Given the description of an element on the screen output the (x, y) to click on. 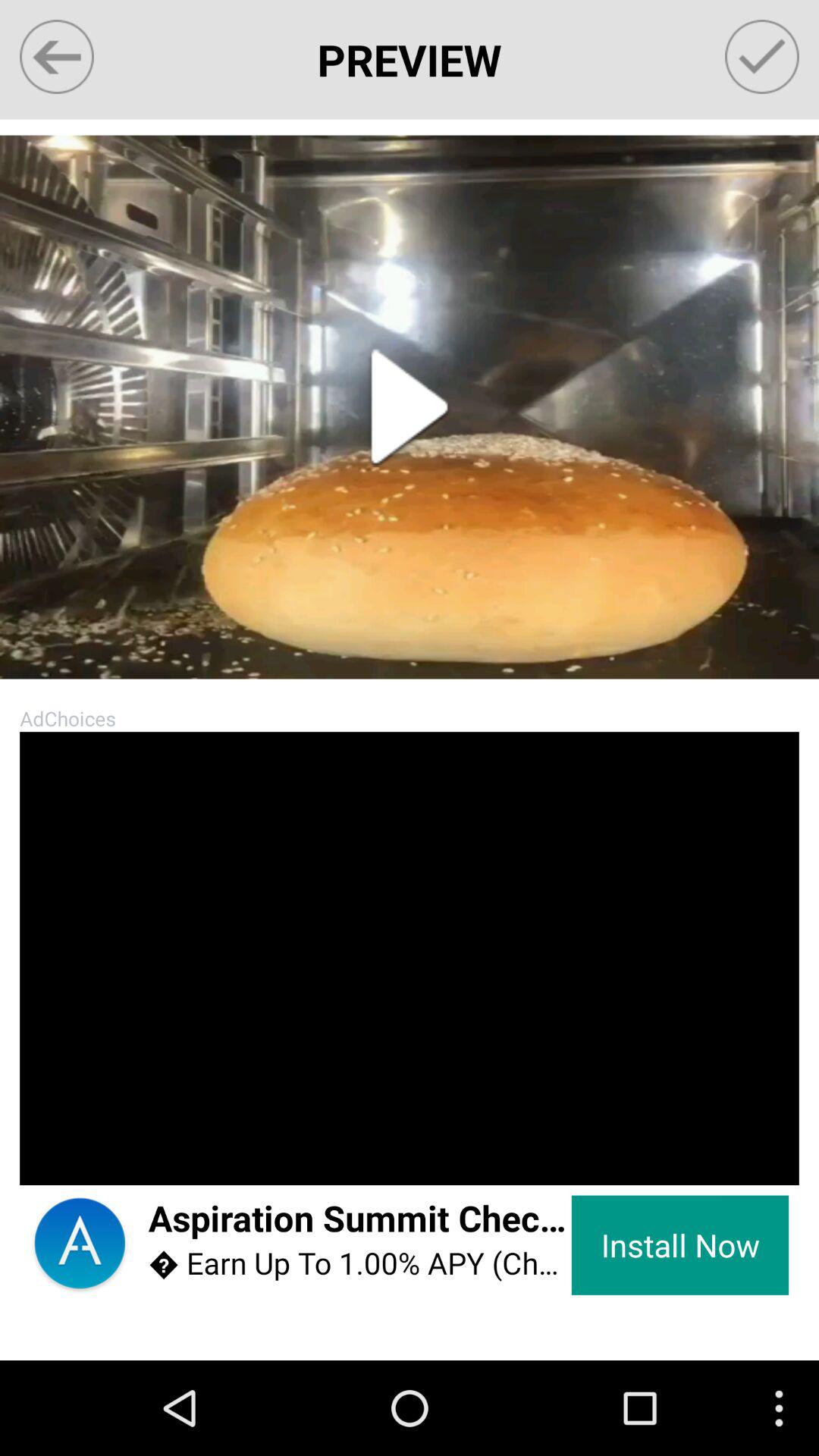
select finish (762, 56)
